Given the description of an element on the screen output the (x, y) to click on. 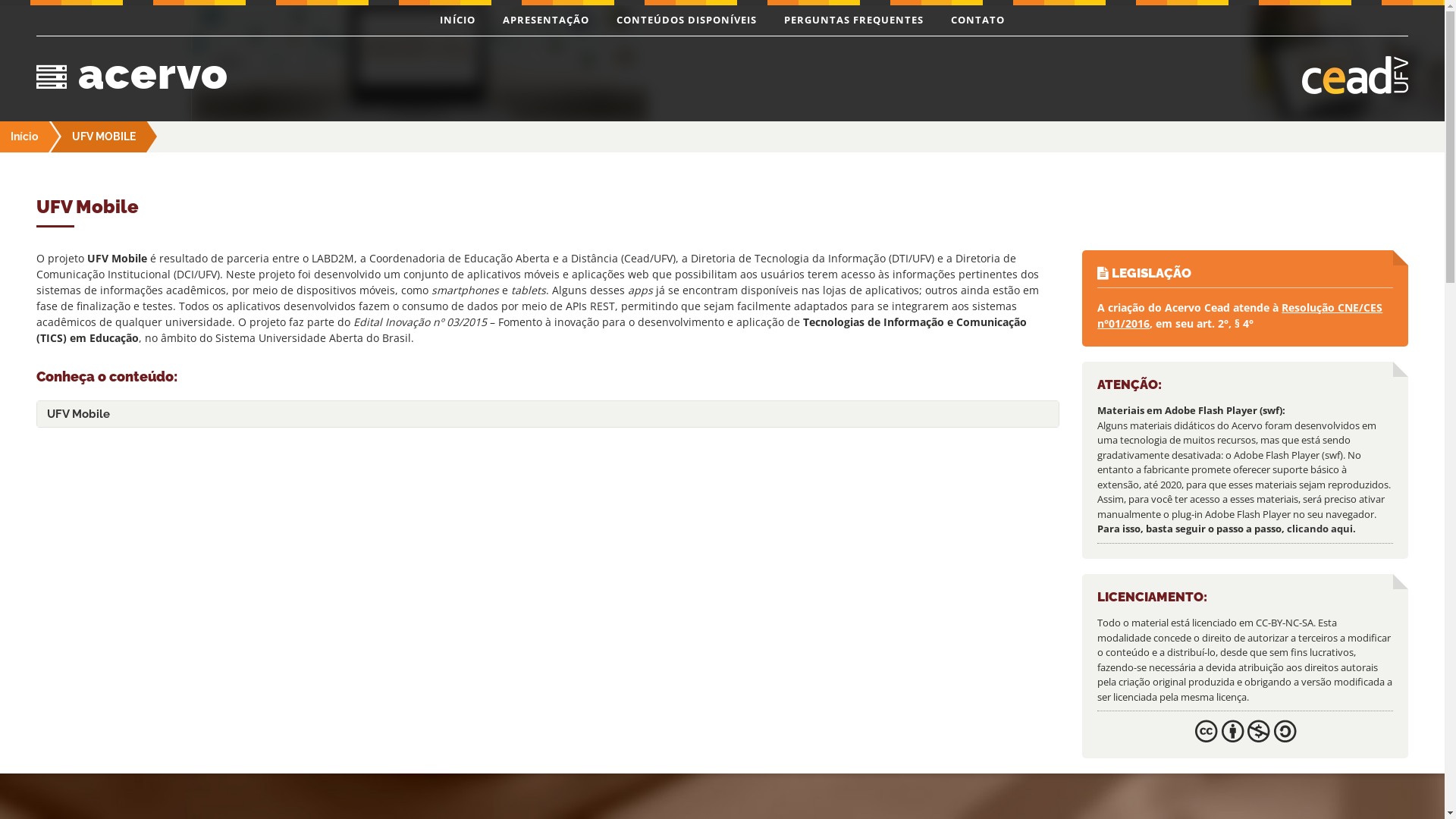
CONTATO Element type: text (977, 20)
PERGUNTAS FREQUENTES Element type: text (853, 20)
acervo Element type: text (373, 72)
UFV Mobile Element type: text (547, 413)
UFV MOBILE Element type: text (103, 136)
clicando aqui. Element type: text (1320, 528)
